Given the description of an element on the screen output the (x, y) to click on. 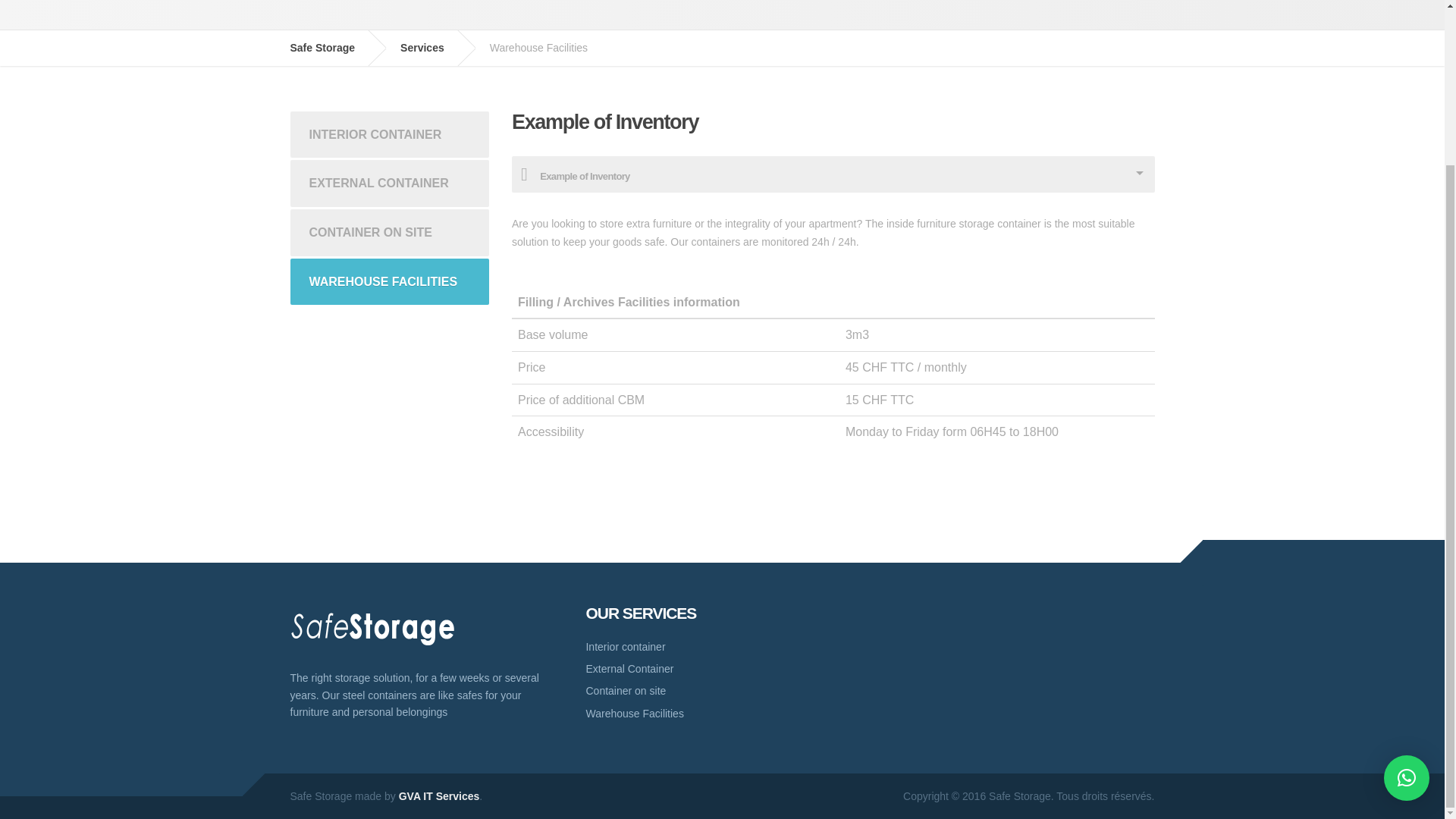
INTERIOR CONTAINER (389, 134)
External Container (647, 668)
CONTAINER ON SITE (389, 232)
Container on site (647, 690)
EXTERNAL CONTAINER (389, 183)
Services (433, 47)
Go to Services. (433, 47)
Go to Safe Storage. (333, 47)
Warehouse Facilities (647, 713)
WAREHOUSE FACILITIES (389, 281)
